Given the description of an element on the screen output the (x, y) to click on. 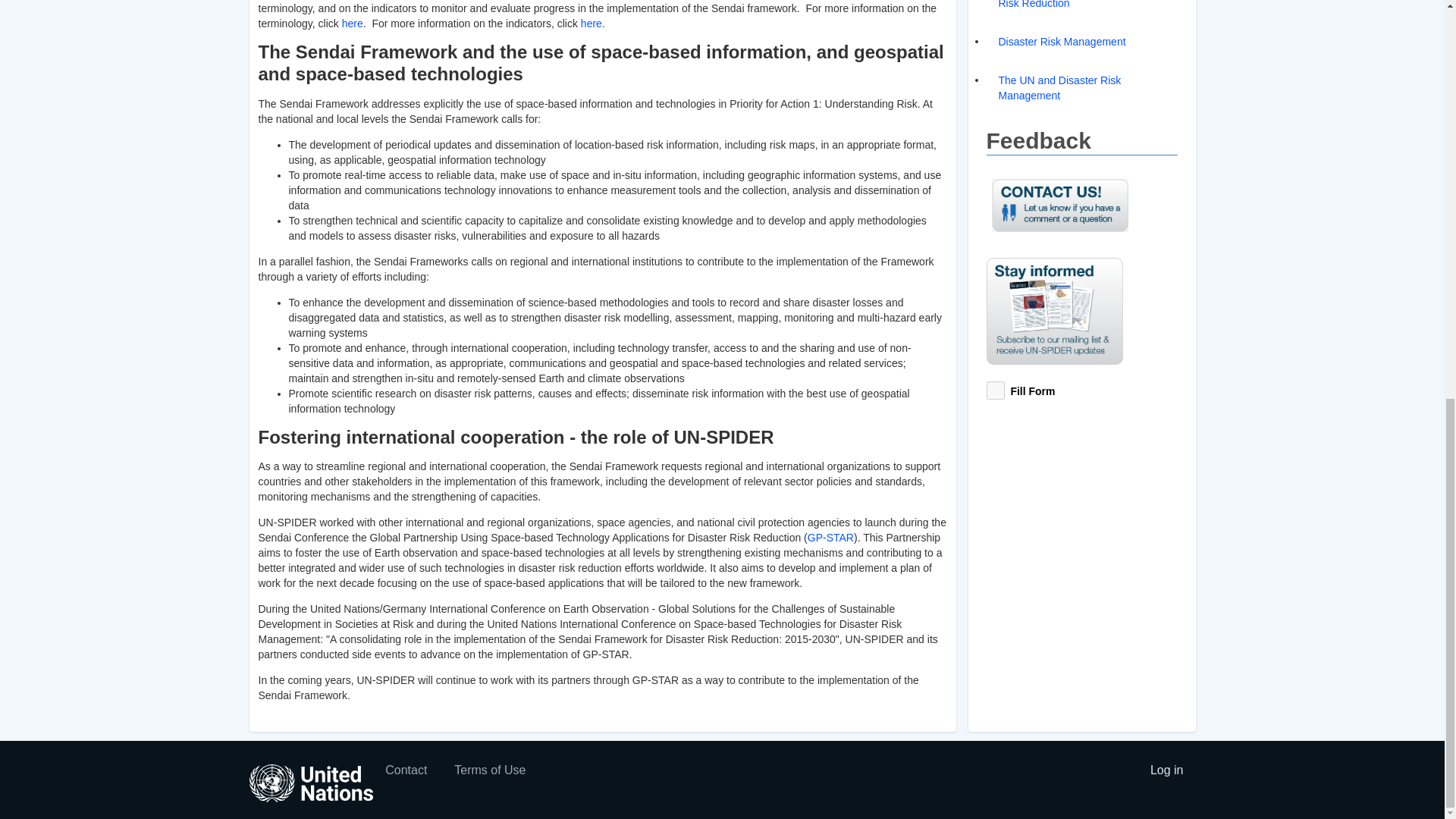
1 (994, 390)
